Given the description of an element on the screen output the (x, y) to click on. 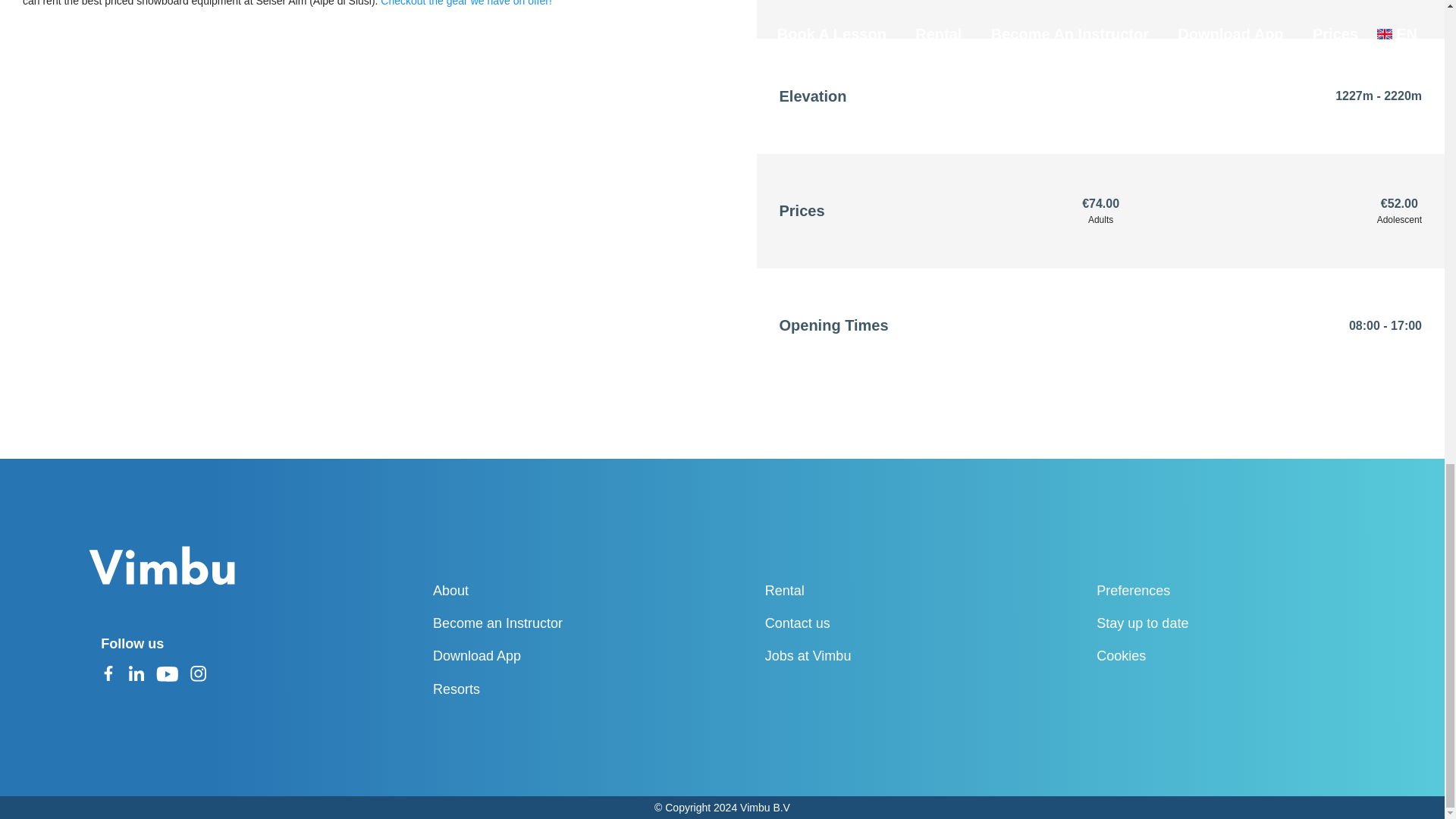
Checkout the gear we have on offer! (465, 3)
Jobs at Vimbu (838, 655)
Cookies (1168, 655)
About (505, 590)
Download App (505, 655)
Become an Instructor (505, 622)
Stay up to date (1168, 622)
Rental (838, 590)
Contact us (838, 622)
Preferences (1168, 590)
Resorts (505, 689)
